Given the description of an element on the screen output the (x, y) to click on. 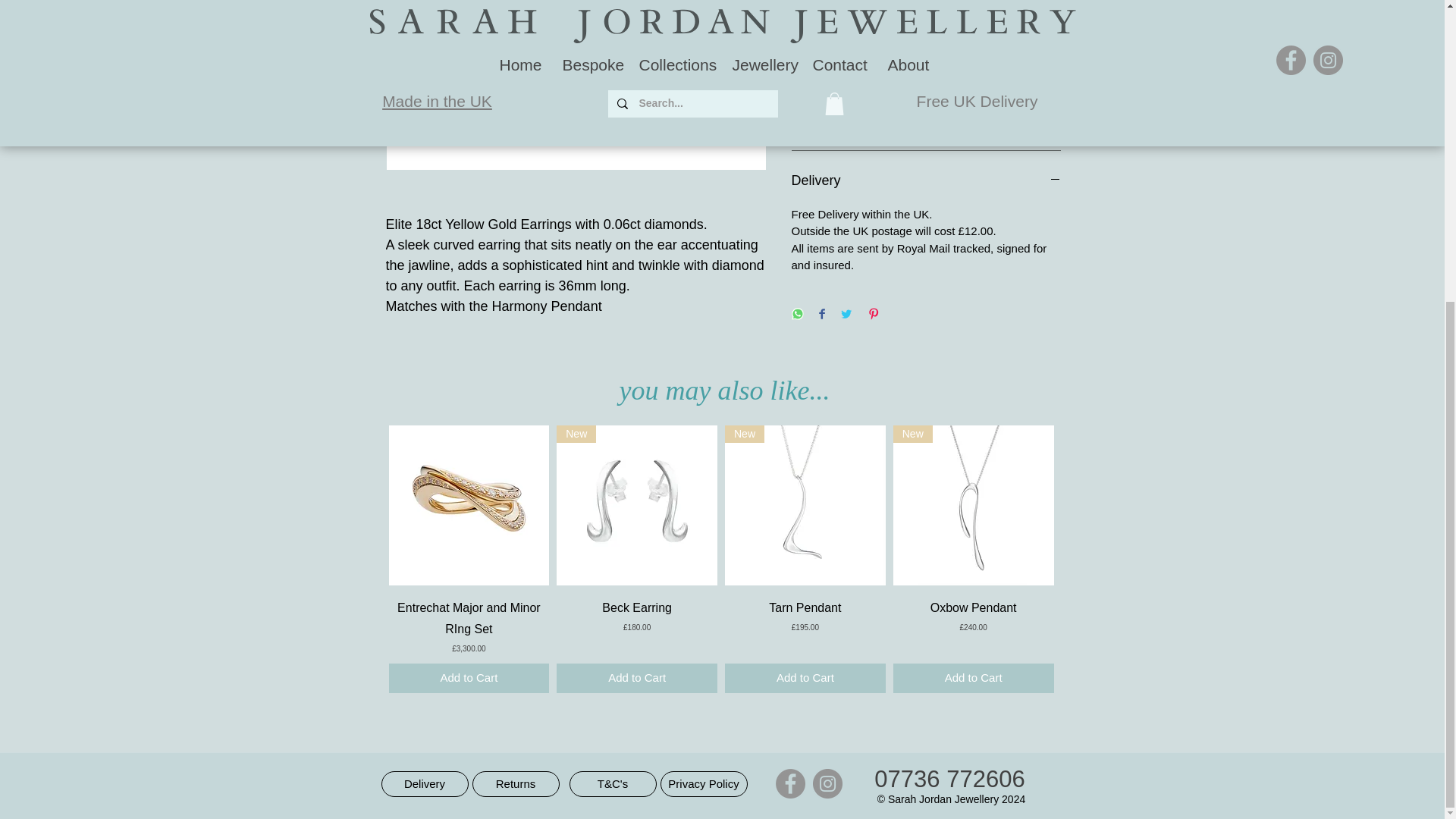
Buy Now (926, 25)
Delivery (926, 180)
About (926, 89)
